Given the description of an element on the screen output the (x, y) to click on. 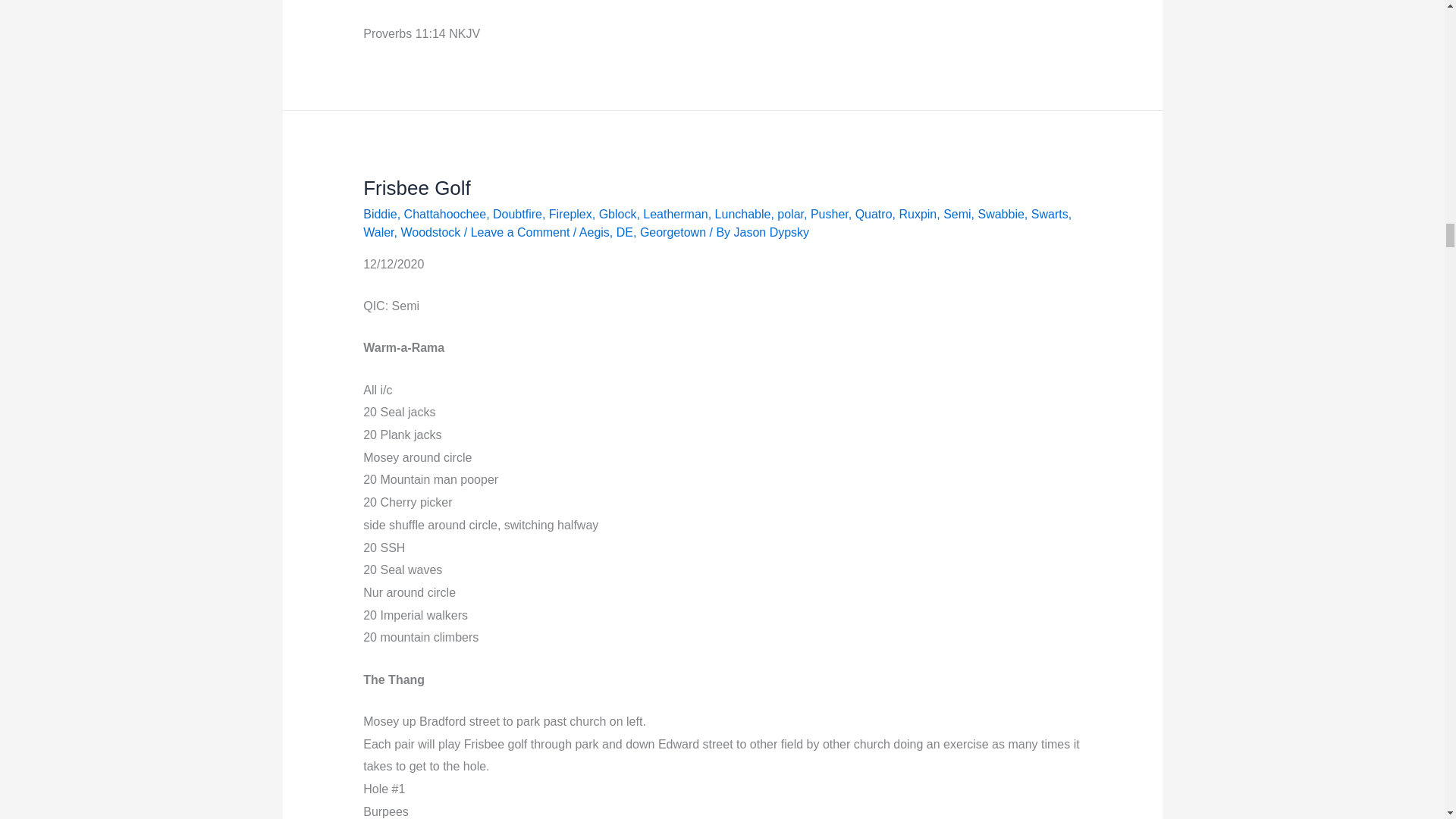
View all posts by Jason Dypsky (771, 232)
